Given the description of an element on the screen output the (x, y) to click on. 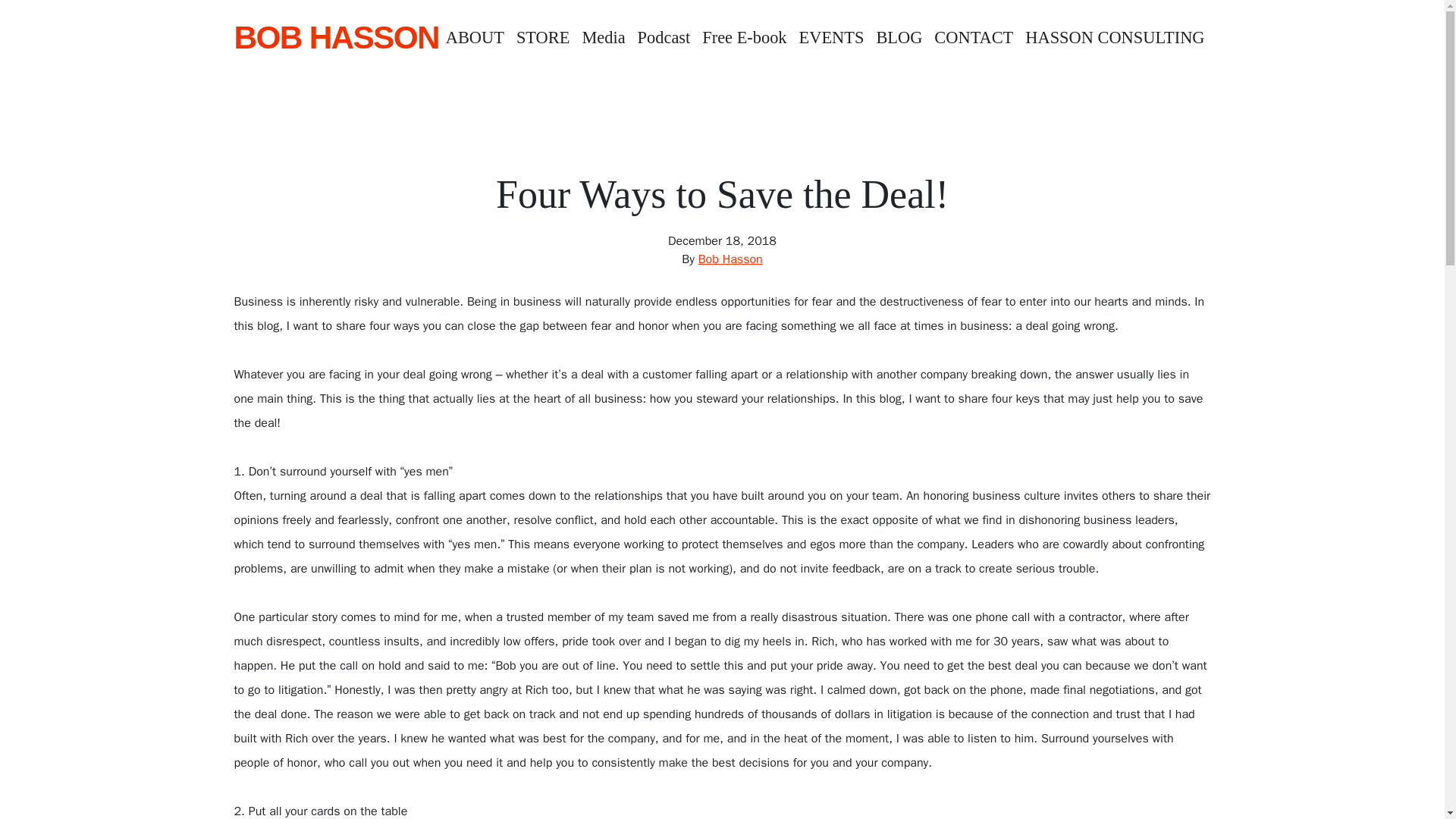
Bob Hasson (730, 258)
CONTACT (973, 38)
HASSON CONSULTING (1114, 38)
STORE (543, 38)
BOB HASSON (335, 37)
Media (602, 38)
BLOG (898, 38)
EVENTS (831, 38)
Podcast (664, 38)
ABOUT (475, 38)
